Given the description of an element on the screen output the (x, y) to click on. 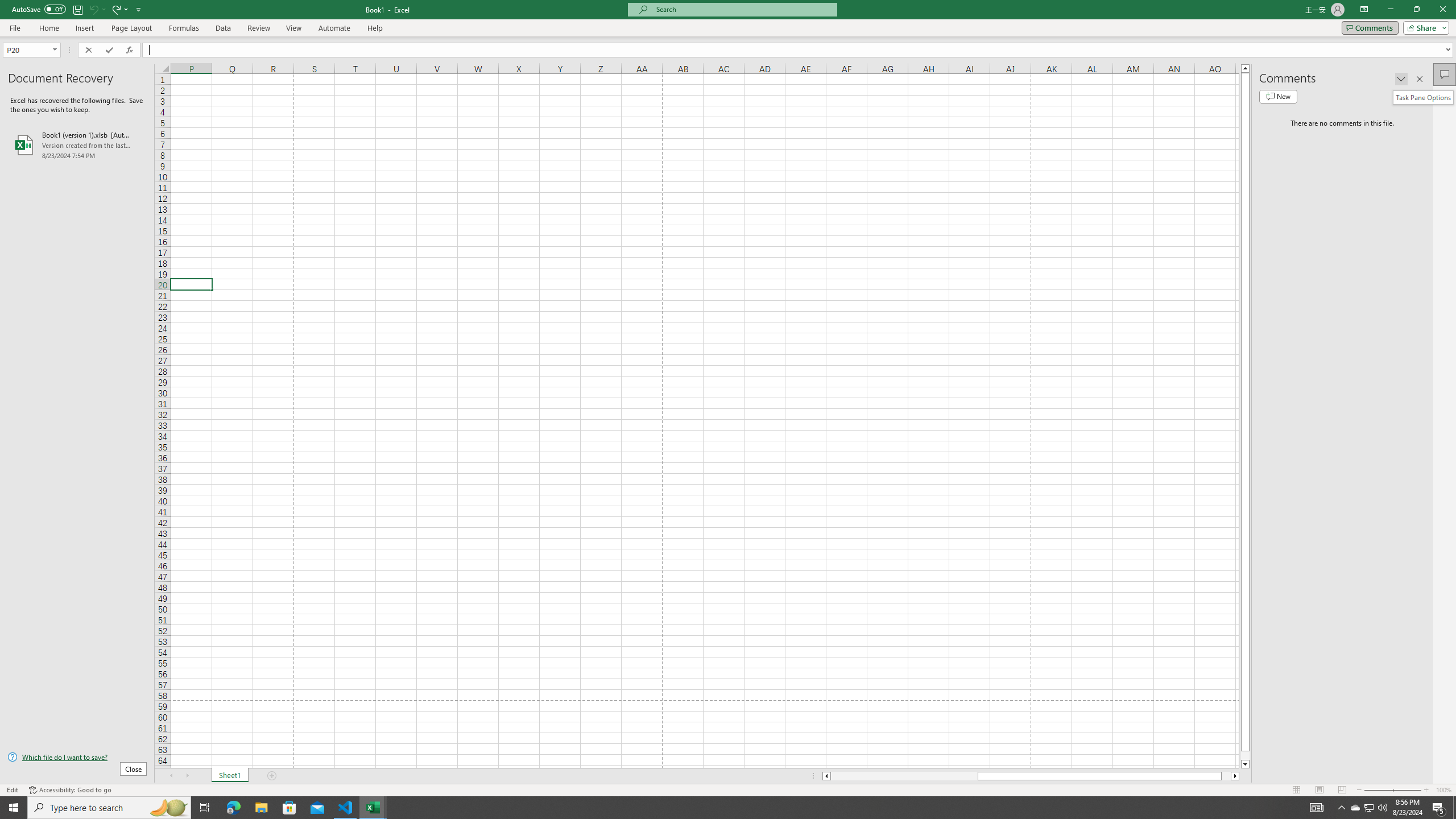
Task Pane Options (1400, 78)
Book1 (version 1).xlsb  [AutoRecovered] (77, 144)
